Given the description of an element on the screen output the (x, y) to click on. 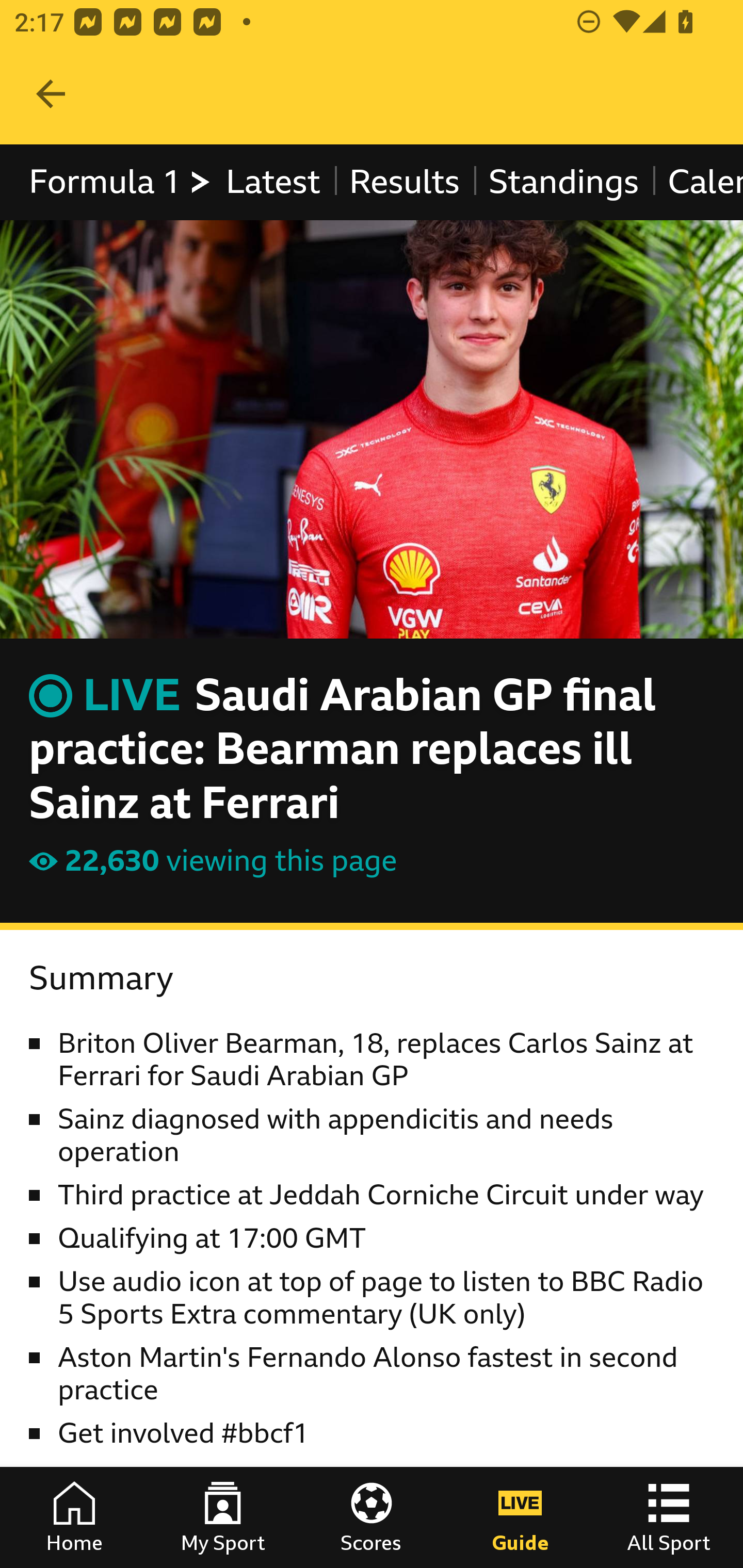
Navigate up (50, 93)
Formula 1  (120, 181)
Latest (272, 181)
Results (403, 181)
Standings (564, 181)
Home (74, 1517)
My Sport (222, 1517)
Scores (371, 1517)
All Sport (668, 1517)
